Given the description of an element on the screen output the (x, y) to click on. 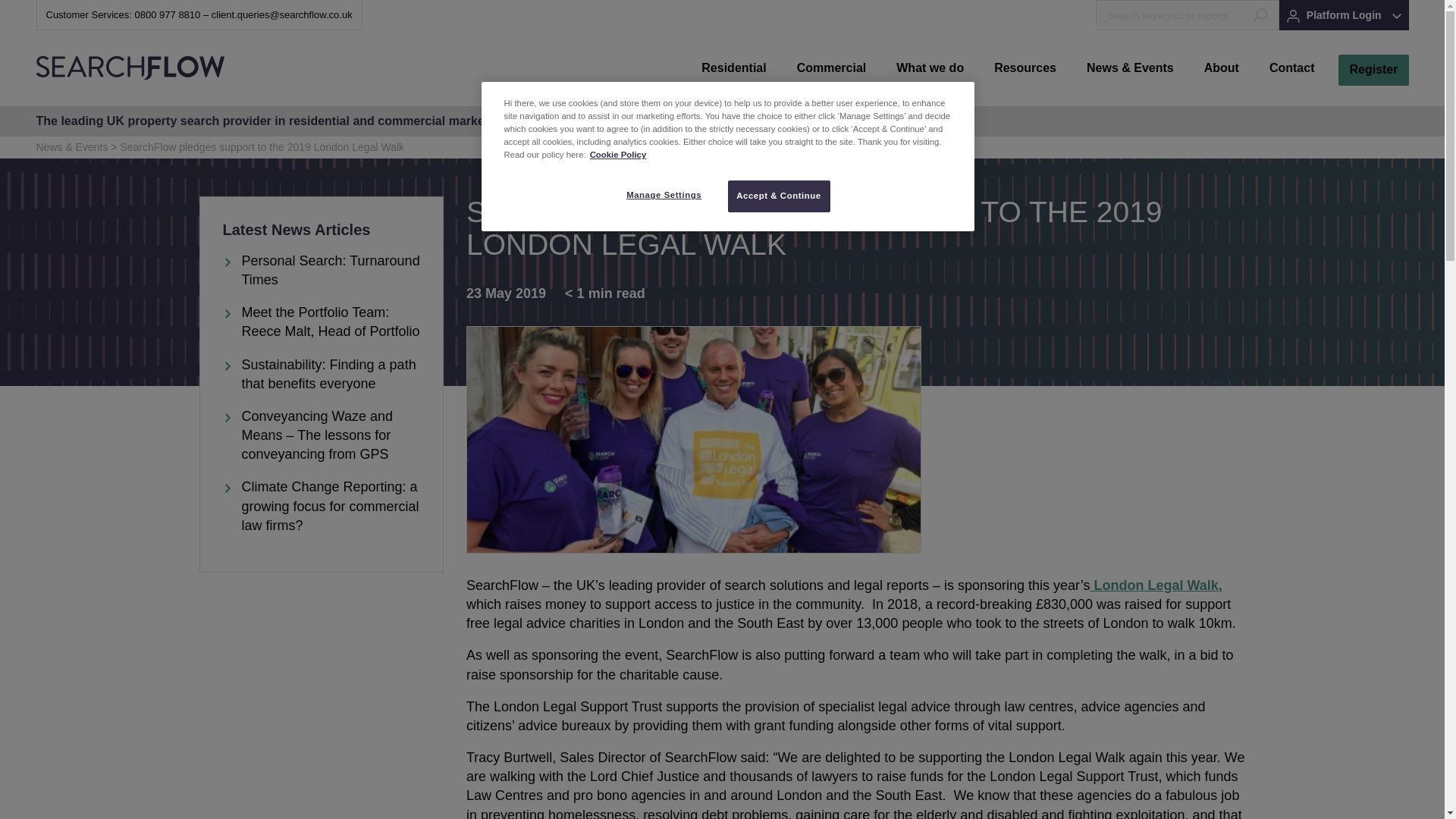
What we do (929, 68)
Commercial (831, 68)
0800 977 8810 (167, 14)
